Given the description of an element on the screen output the (x, y) to click on. 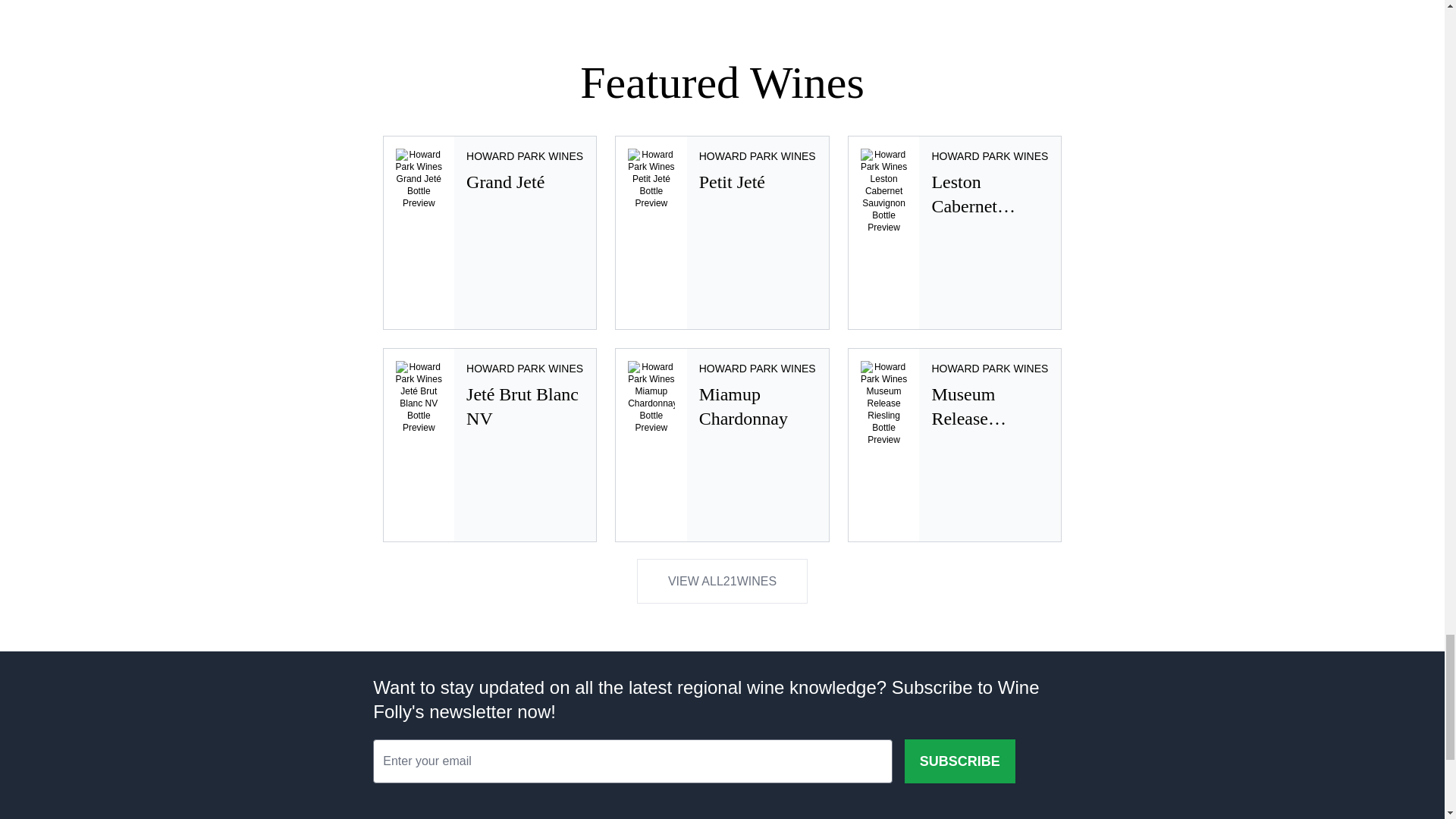
VIEW ALL21WINES (722, 580)
SUBSCRIBE (954, 232)
